Given the description of an element on the screen output the (x, y) to click on. 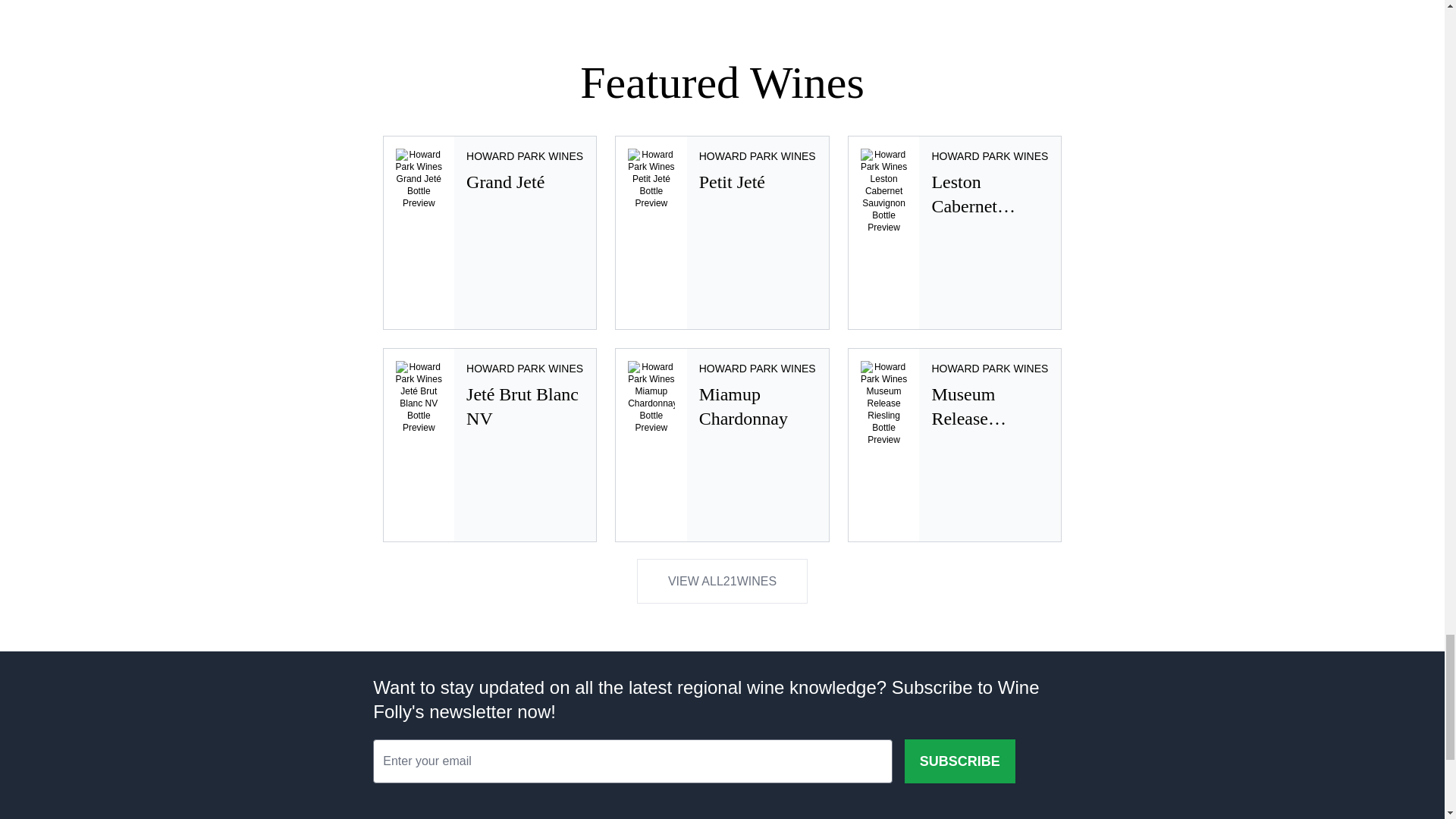
VIEW ALL21WINES (722, 580)
SUBSCRIBE (954, 232)
